Given the description of an element on the screen output the (x, y) to click on. 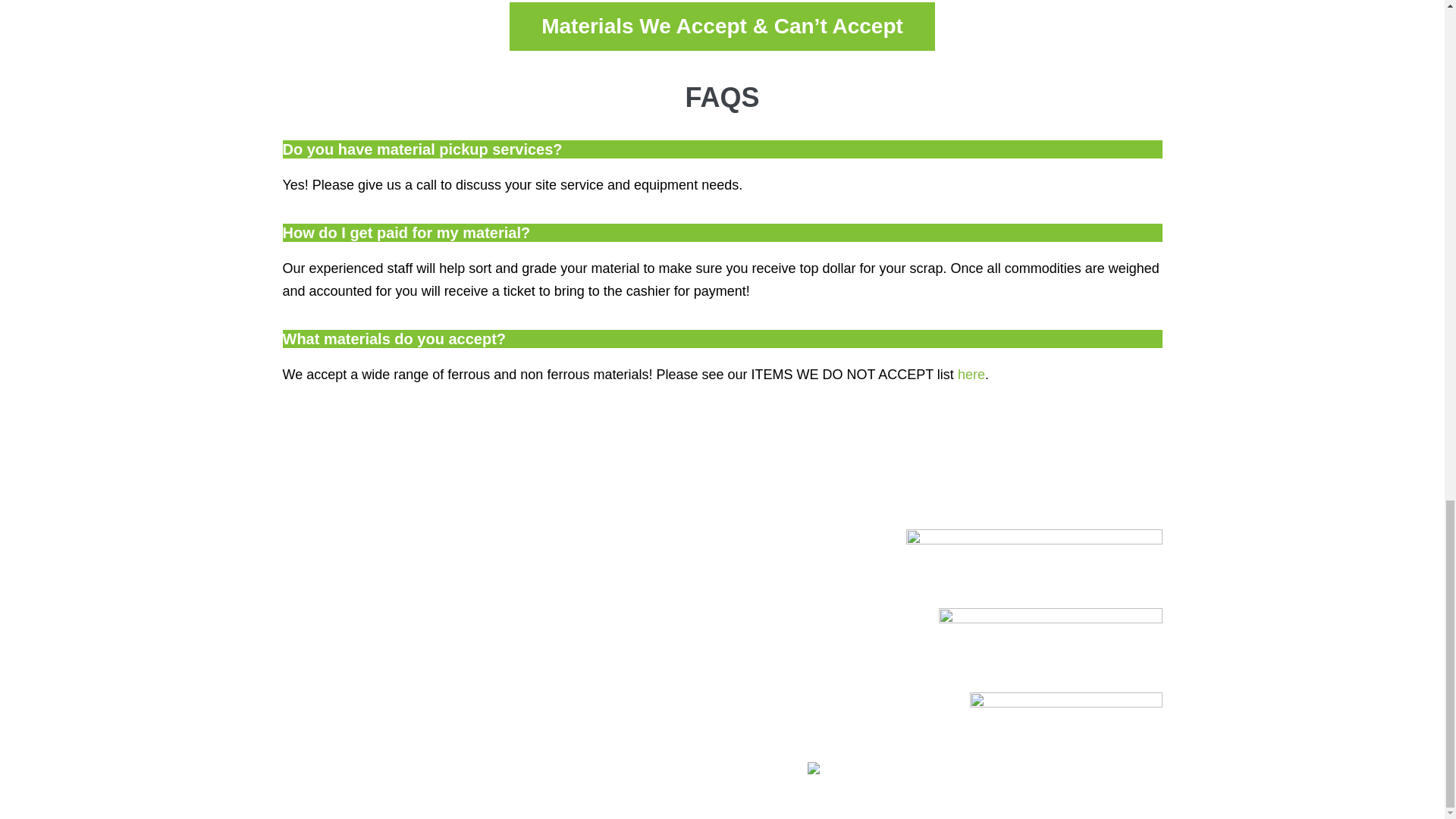
What materials do you accept? (393, 338)
here (971, 374)
Do you have material pickup services? (422, 149)
How do I get paid for my material? (405, 232)
